Given the description of an element on the screen output the (x, y) to click on. 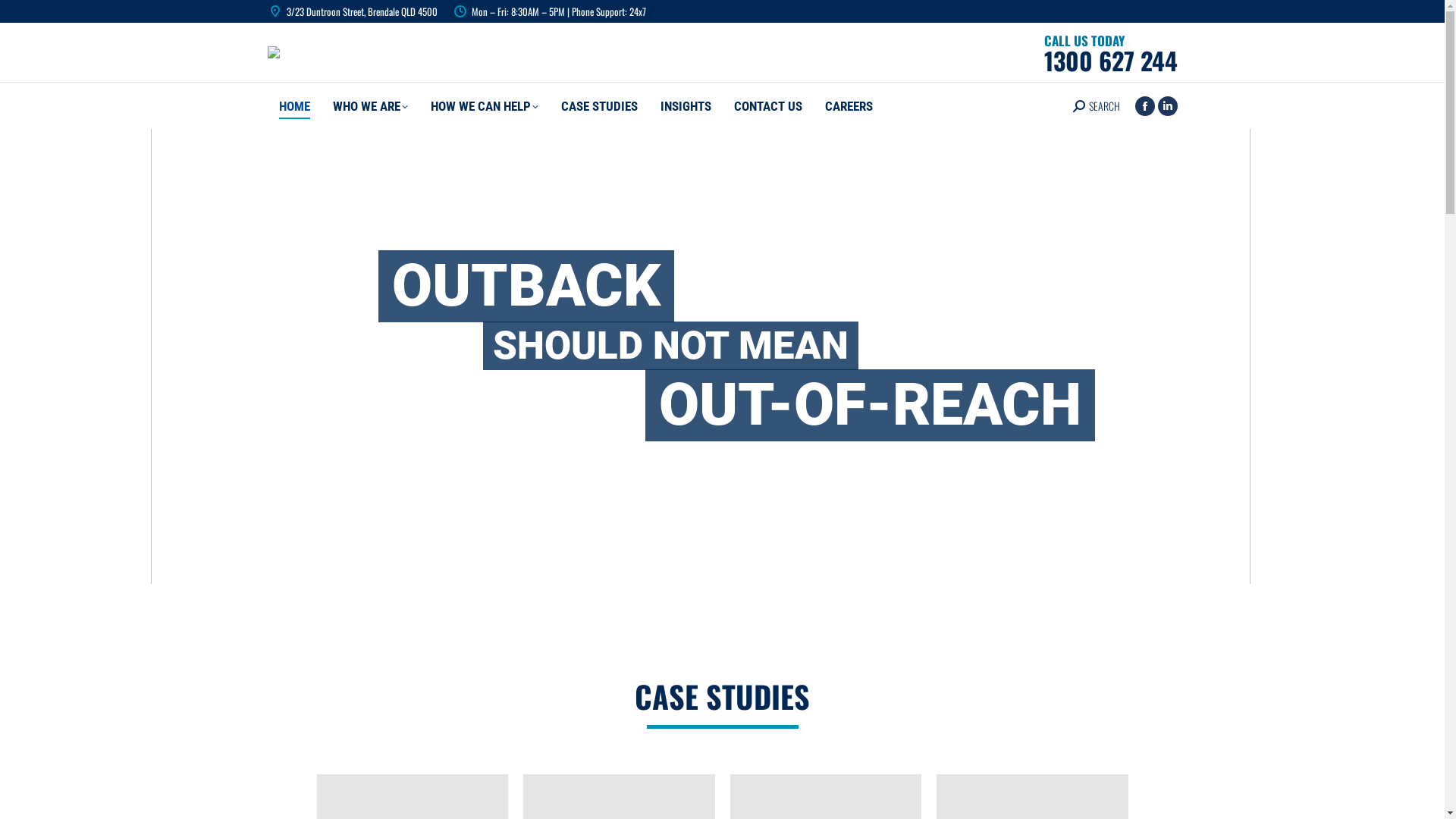
Facebook page opens in new window Element type: text (1144, 105)
Linkedin page opens in new window Element type: text (1166, 105)
SEARCH Element type: text (1095, 105)
WHO WE ARE Element type: text (370, 106)
Go! Element type: text (22, 15)
HOW WE CAN HELP Element type: text (483, 106)
HOME Element type: text (293, 106)
INSIGHTS Element type: text (685, 106)
CASE STUDIES Element type: text (598, 106)
CONTACT US Element type: text (766, 106)
CAREERS Element type: text (847, 106)
